Given the description of an element on the screen output the (x, y) to click on. 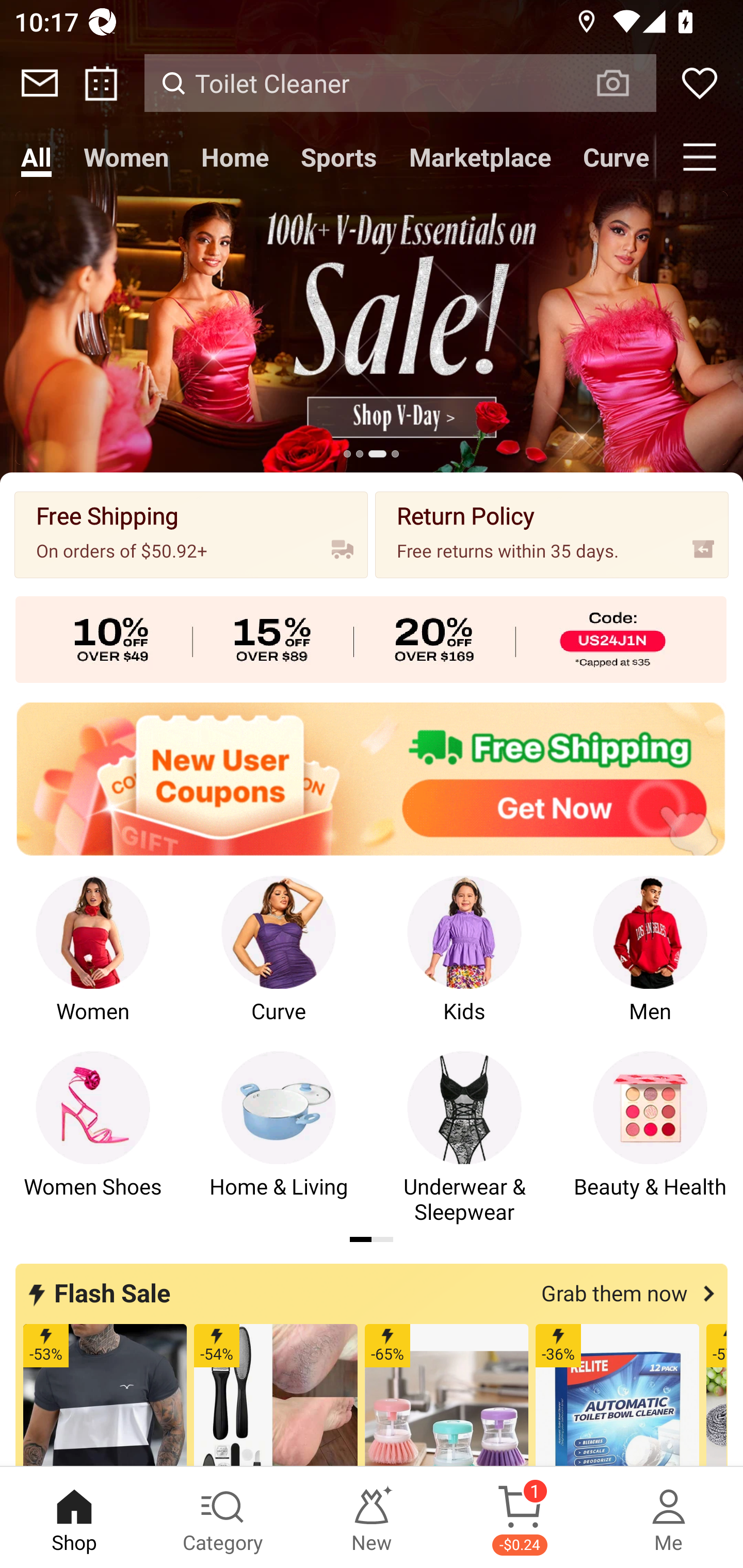
Wishlist (699, 82)
VISUAL SEARCH (623, 82)
All (36, 156)
Women (126, 156)
Home (234, 156)
Sports (338, 156)
Marketplace (479, 156)
Curve (611, 156)
Free Shipping On orders of $50.92+ (190, 534)
Return Policy Free returns within 35 days. (551, 534)
Women (92, 962)
Curve (278, 962)
Kids (464, 962)
Men (650, 962)
Women Shoes (92, 1138)
Home & Living (278, 1138)
Underwear & Sleepwear (464, 1138)
Beauty & Health (650, 1138)
Category (222, 1517)
New (371, 1517)
Cart 1 -$0.24 (519, 1517)
Me (668, 1517)
